Given the description of an element on the screen output the (x, y) to click on. 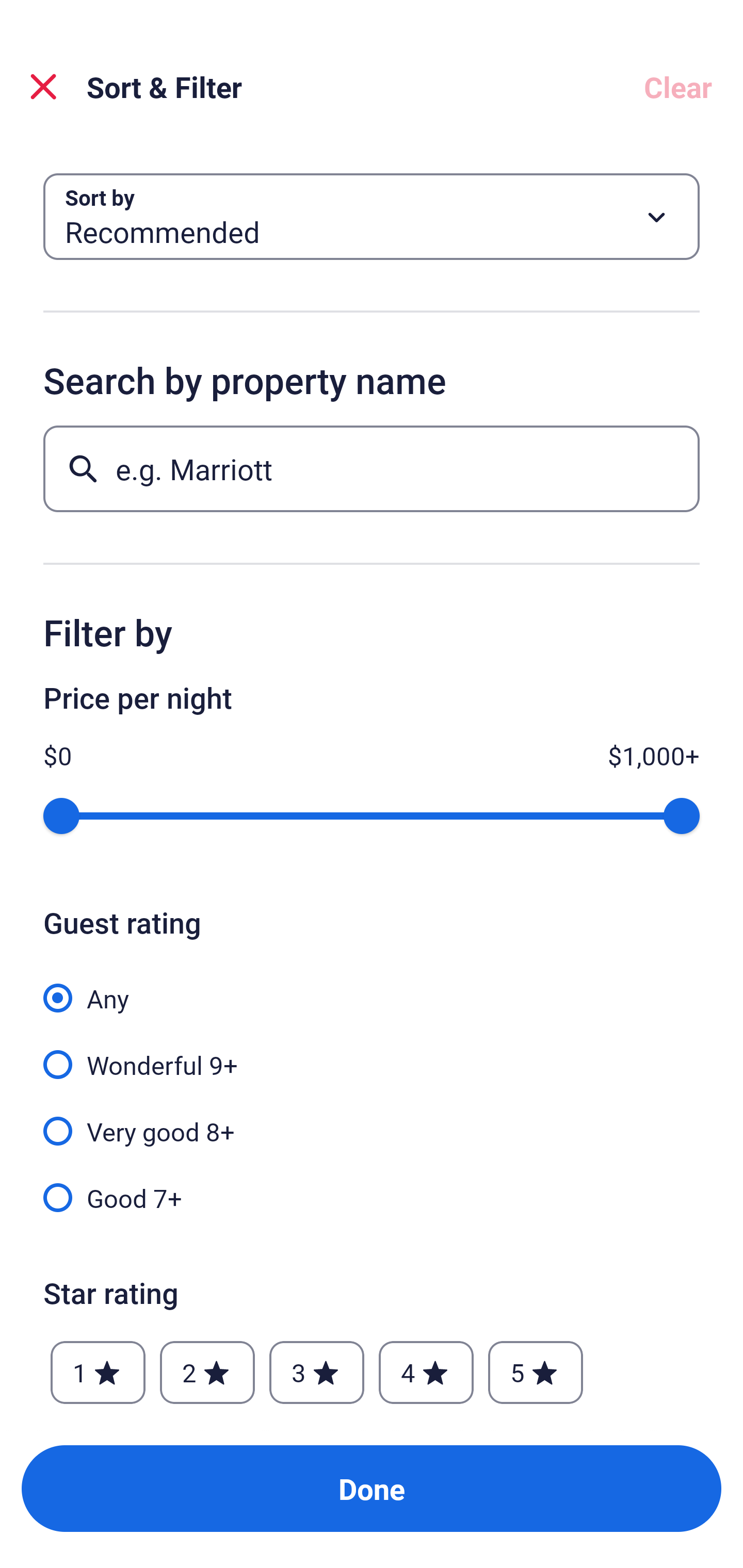
Close Sort and Filter (43, 86)
Clear (677, 86)
Sort by Button Recommended (371, 217)
e.g. Marriott Button (371, 468)
Wonderful 9+ (371, 1053)
Very good 8+ (371, 1120)
Good 7+ (371, 1197)
1 (97, 1372)
2 (206, 1372)
3 (316, 1372)
4 (426, 1372)
5 (535, 1372)
Apply and close Sort and Filter Done (371, 1488)
